Given the description of an element on the screen output the (x, y) to click on. 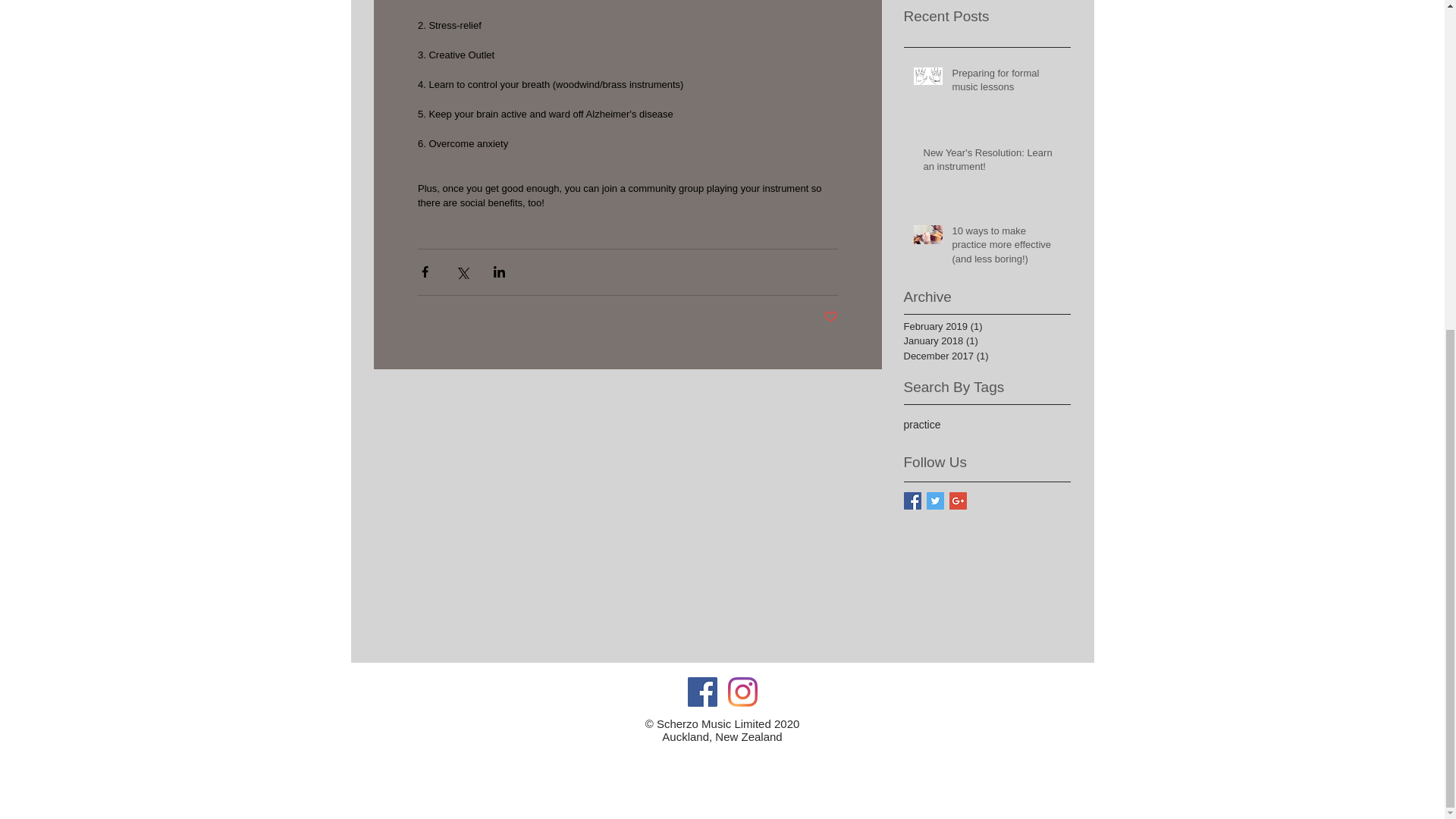
Post not marked as liked (831, 317)
Preparing for formal music lessons (1006, 82)
New Year's Resolution: Learn an instrument! (992, 162)
practice (922, 424)
